Given the description of an element on the screen output the (x, y) to click on. 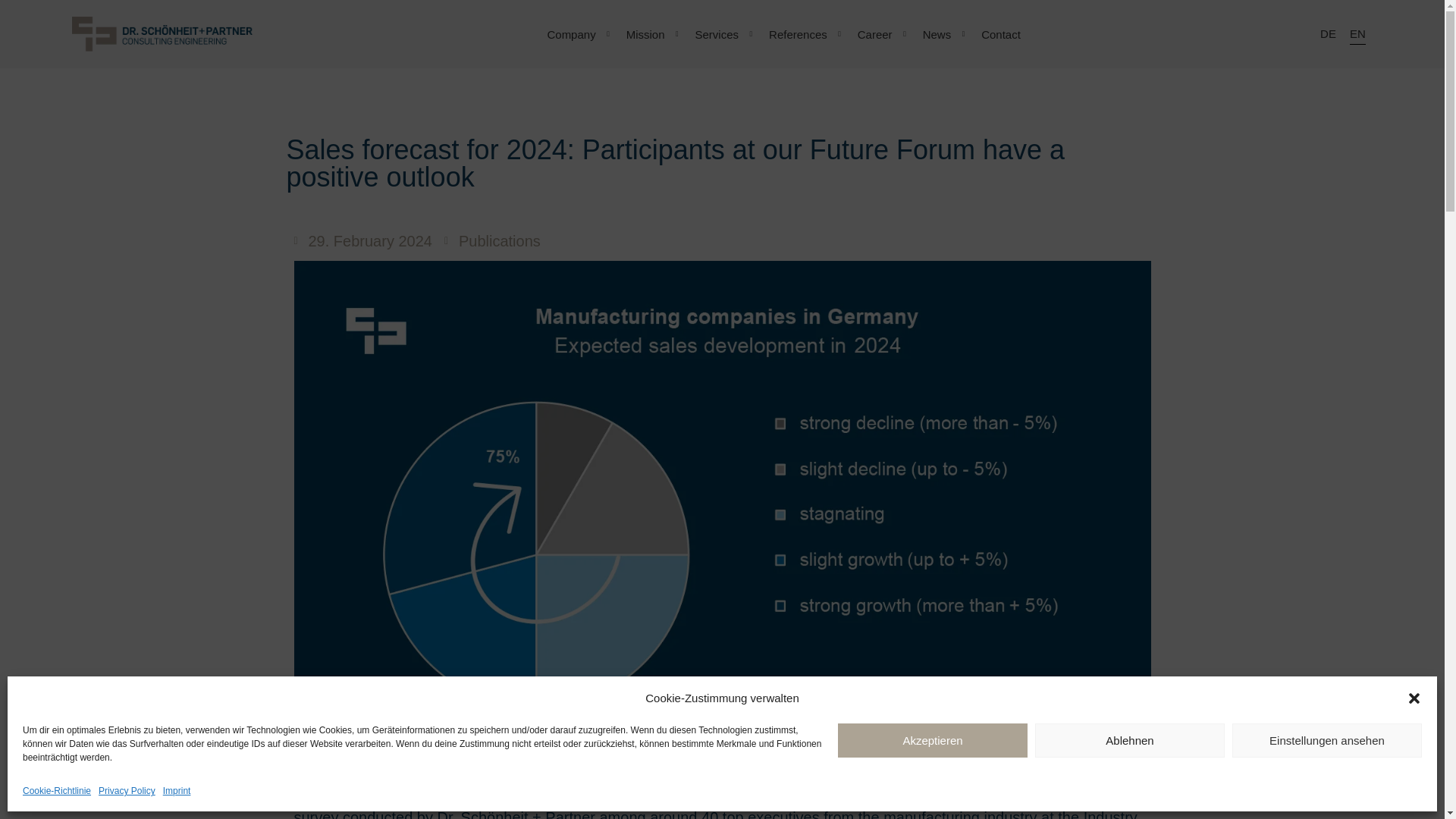
Ablehnen (1129, 740)
References (798, 33)
Services (716, 33)
Imprint (176, 791)
Privacy Policy (127, 791)
Company (570, 33)
Einstellungen ansehen (1326, 740)
Mission (645, 33)
Cookie-Richtlinie (56, 791)
Akzeptieren (932, 740)
